Given the description of an element on the screen output the (x, y) to click on. 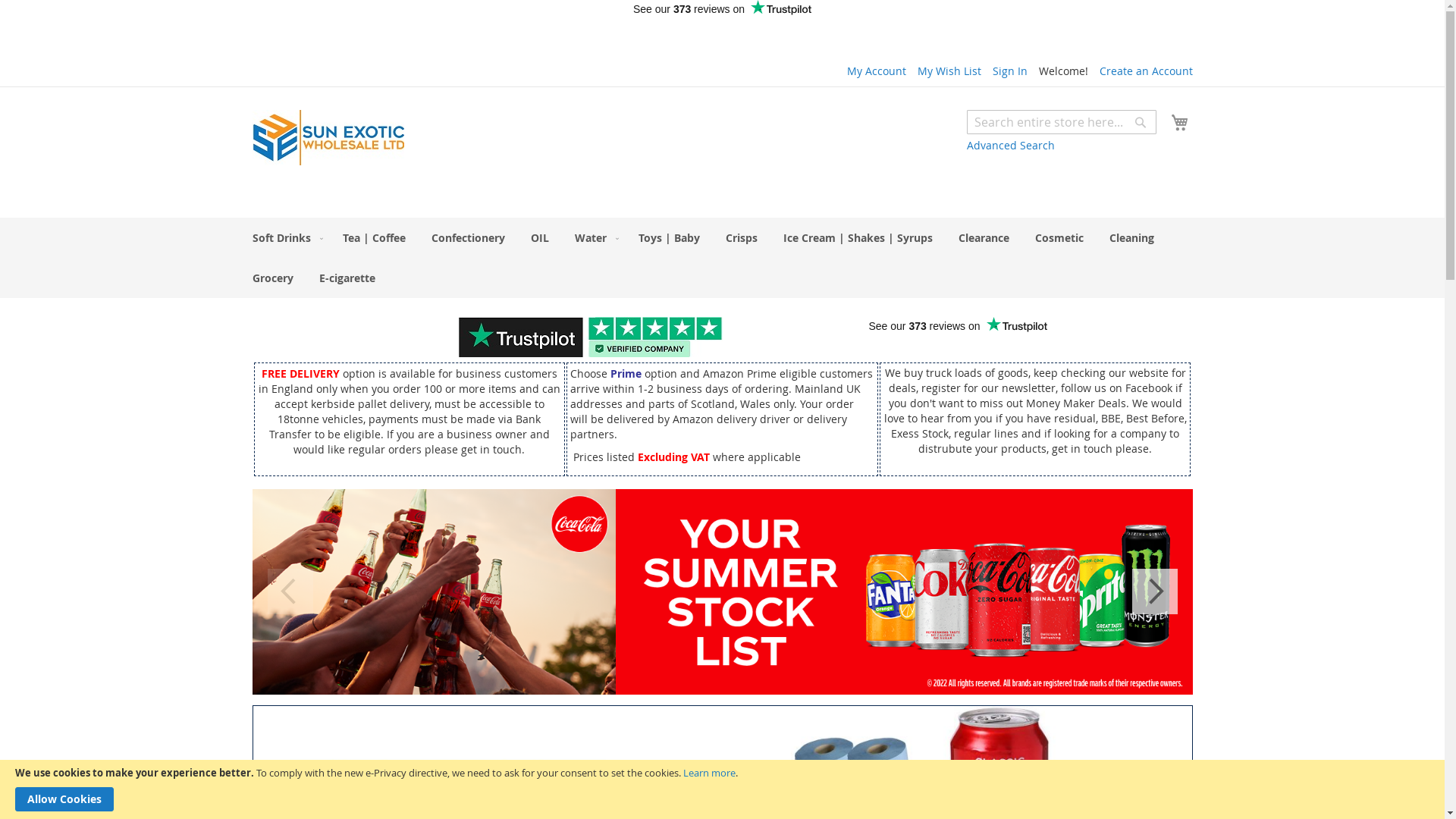
My Wish List Element type: text (949, 70)
Skip to Content Element type: text (251, 62)
Customer reviews powered by Trustpilot Element type: hover (722, 200)
Cosmetic Element type: text (1058, 237)
Confectionery Element type: text (467, 237)
Cleaning Element type: text (1130, 237)
My Account Element type: text (875, 70)
Tea | Coffee Element type: text (373, 237)
My Cart Element type: text (1179, 121)
Sign In Element type: text (1008, 70)
Clearance Element type: text (983, 237)
Learn more Element type: text (709, 772)
Create an Account Element type: text (1145, 70)
OIL Element type: text (539, 237)
Ice Cream | Shakes | Syrups Element type: text (857, 237)
Soft Drinks Element type: text (283, 237)
Toys | Baby Element type: text (669, 237)
Advanced Search Element type: text (1010, 145)
Search Element type: text (1139, 121)
Customer reviews powered by Trustpilot Element type: hover (722, 20)
Allow Cookies Element type: text (64, 799)
Crisps Element type: text (740, 237)
Grocery Element type: text (271, 277)
Water Element type: text (593, 237)
E-cigarette Element type: text (346, 277)
Previous Element type: text (289, 591)
Next Element type: text (1153, 591)
Customer reviews powered by Trustpilot Element type: hover (956, 336)
